Given the description of an element on the screen output the (x, y) to click on. 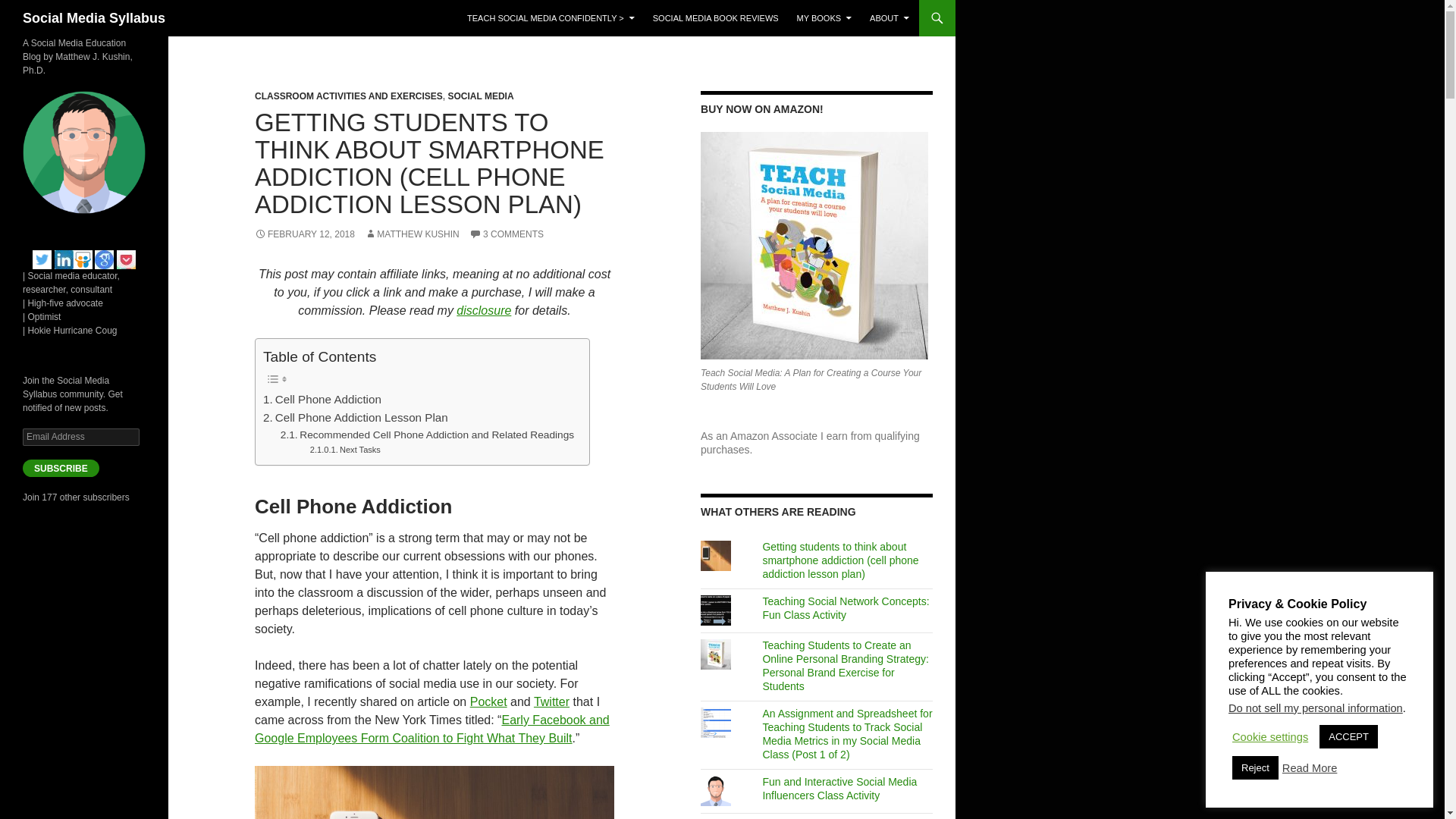
Cell Phone Addiction Lesson Plan (355, 417)
Next Tasks (345, 450)
MY BOOKS (823, 18)
ABOUT (889, 18)
Recommended Cell Phone Addiction and Related Readings (427, 434)
Cell Phone Addiction (322, 399)
Social Media Syllabus (94, 18)
SOCIAL MEDIA BOOK REVIEWS (715, 18)
